Given the description of an element on the screen output the (x, y) to click on. 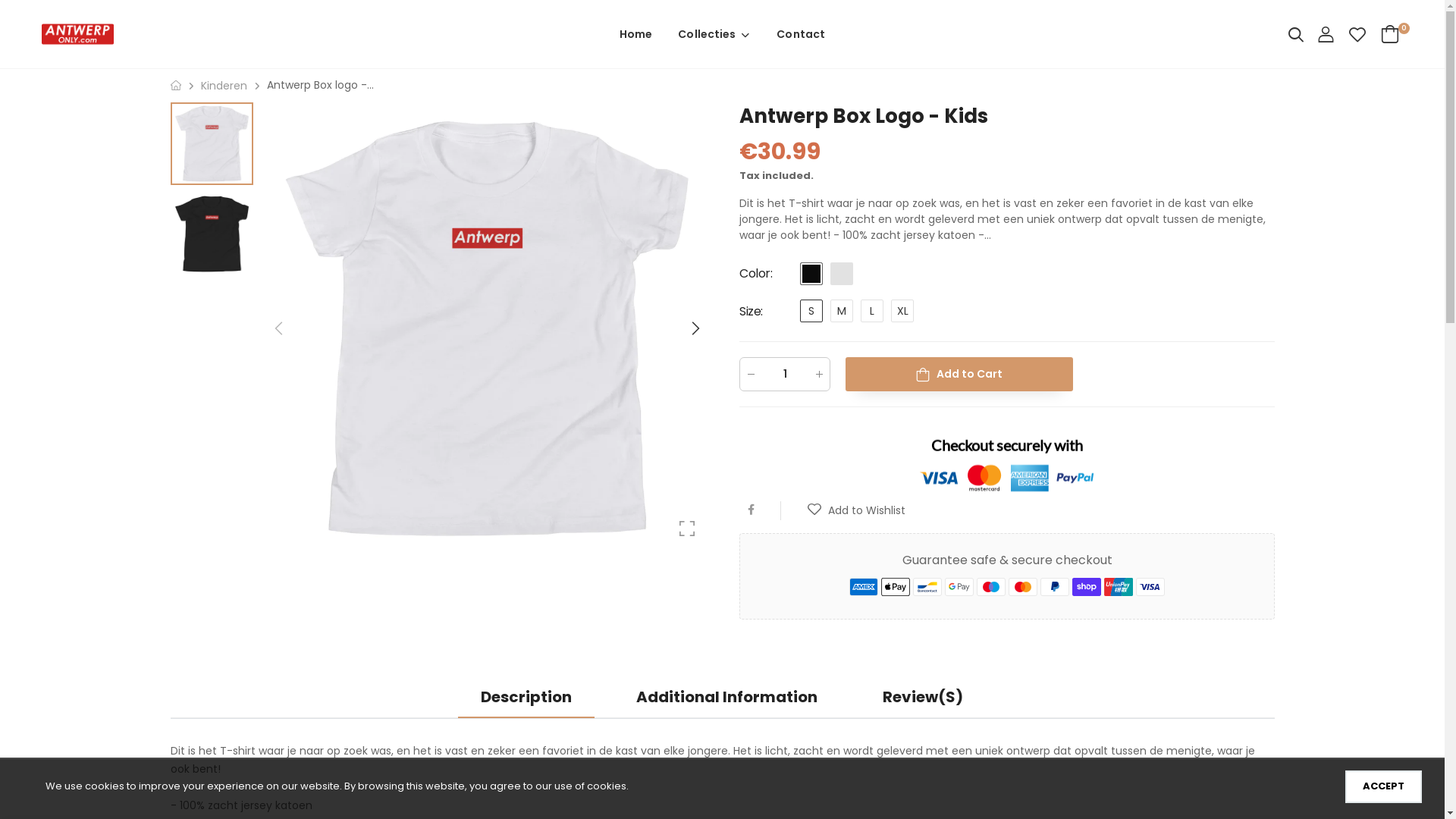
Black / S Element type: hover (210, 233)
Review(S) Element type: text (922, 697)
Additional Information Element type: text (726, 697)
White / S Element type: hover (486, 328)
0 Element type: text (1387, 34)
Description Element type: text (526, 697)
Add to Cart Element type: text (958, 373)
White / S Element type: hover (210, 143)
Home Element type: hover (174, 85)
Contact Element type: text (800, 33)
Kinderen Element type: text (223, 85)
Home Element type: text (635, 33)
Collecties Element type: text (713, 33)
ACCEPT Element type: text (1383, 786)
